Given the description of an element on the screen output the (x, y) to click on. 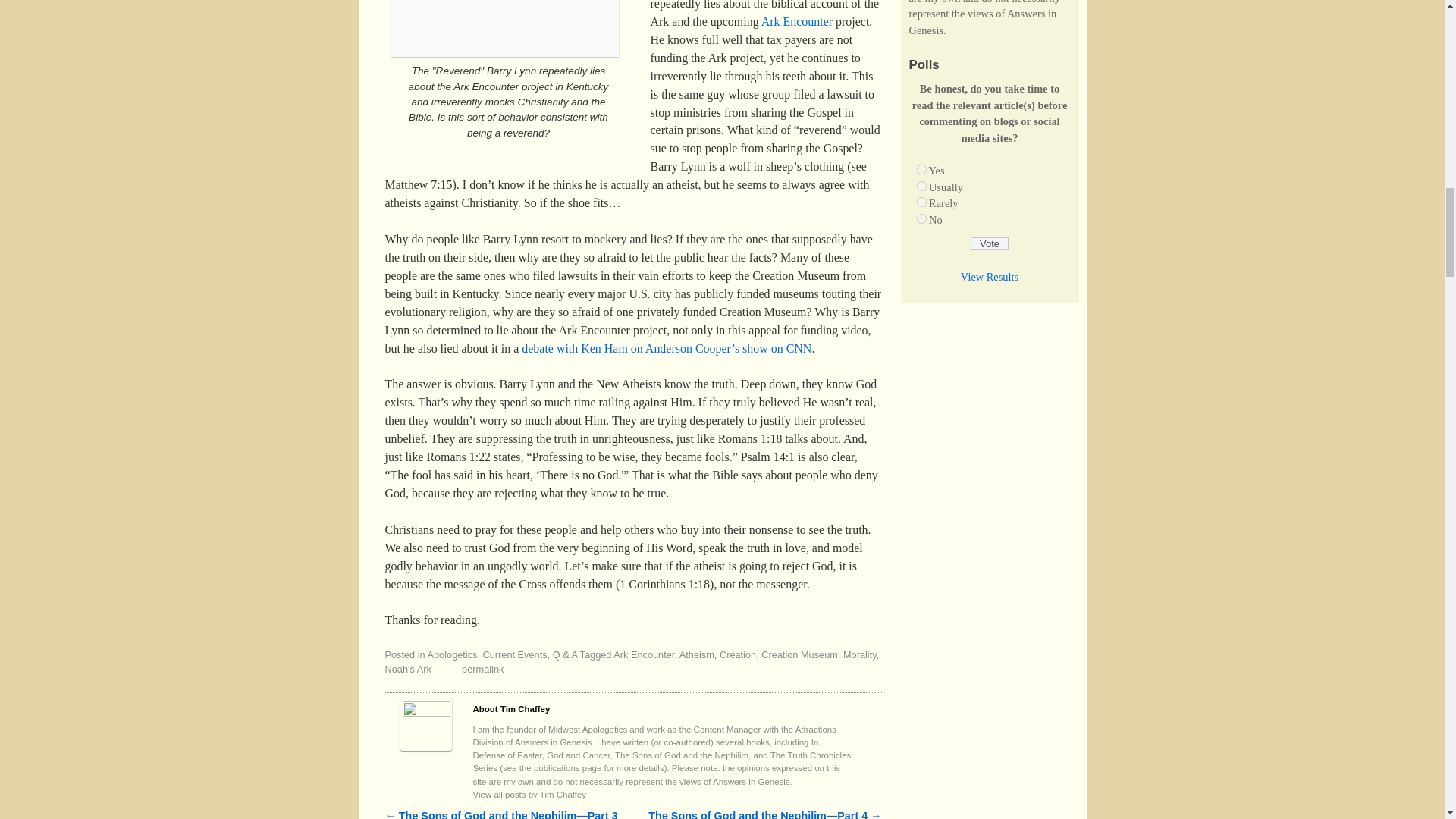
Ark Encounter (643, 654)
28 (920, 202)
Atheism (696, 654)
View all posts by Tim Chaffey (529, 794)
View Results Of This Poll (988, 276)
Ark Encounter (796, 21)
   Vote    (990, 243)
permalink (482, 668)
Current Events (515, 654)
27 (920, 185)
